Given the description of an element on the screen output the (x, y) to click on. 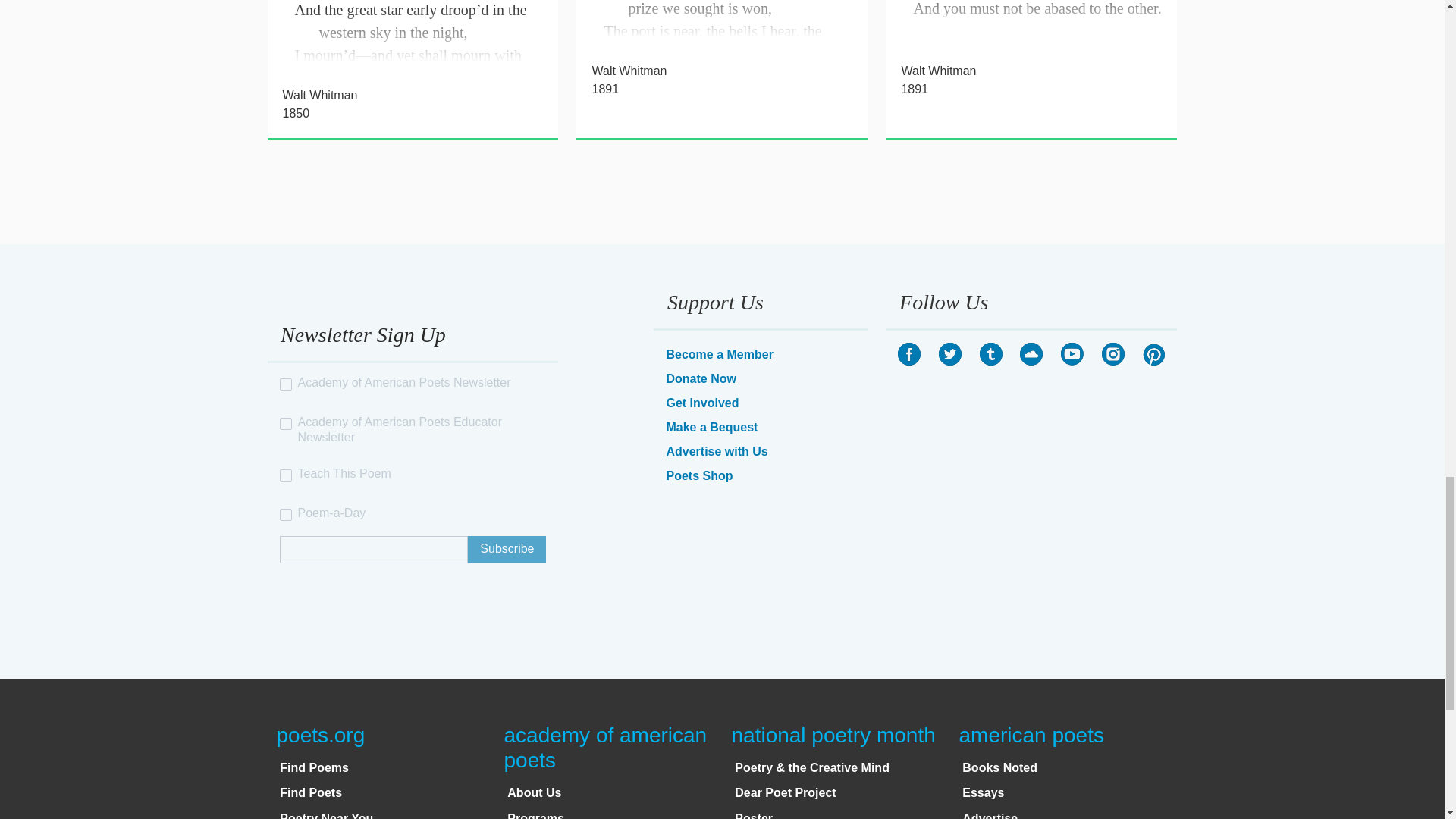
Poetry Near You (325, 815)
Subscribe (506, 549)
